Given the description of an element on the screen output the (x, y) to click on. 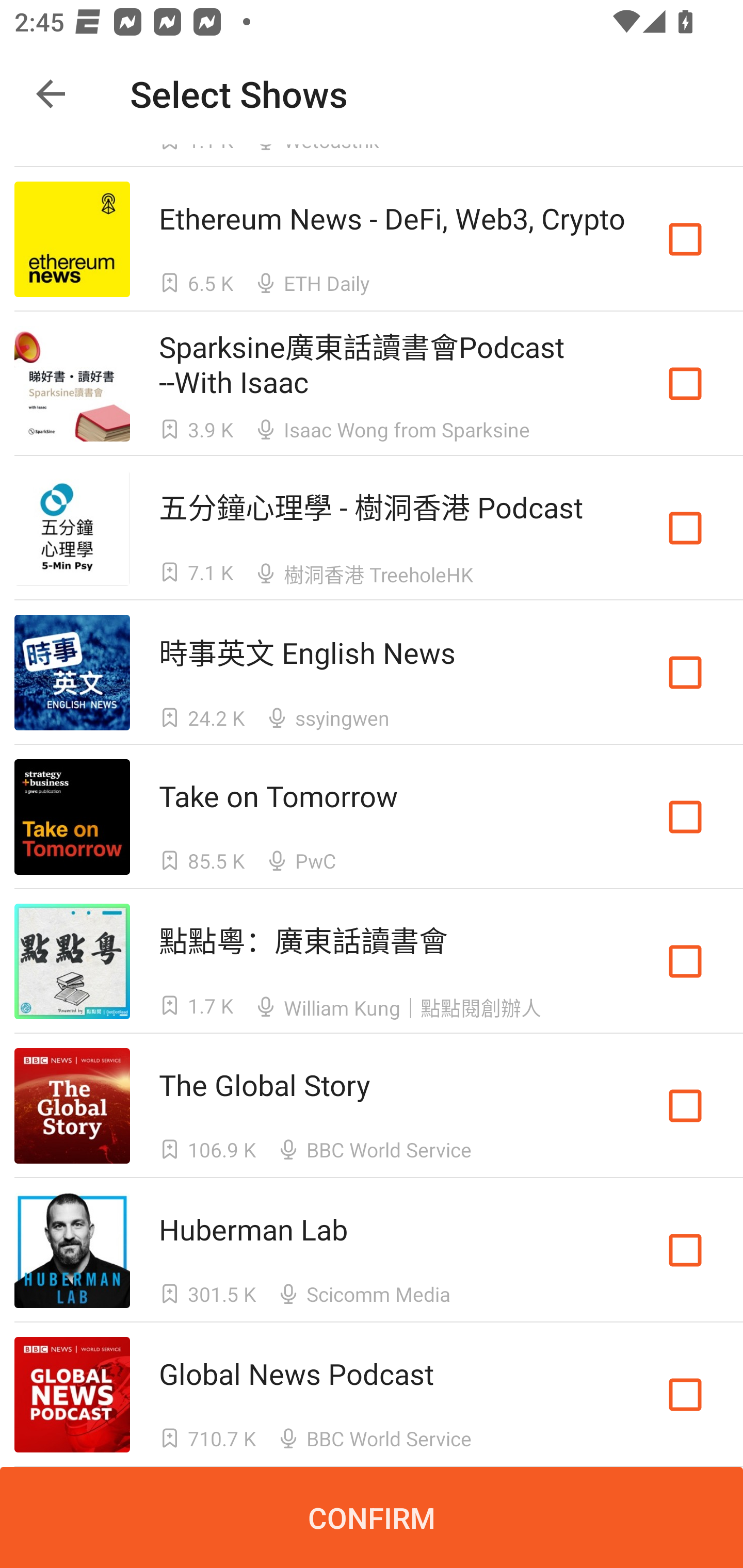
Navigate up (50, 93)
Take on Tomorrow Take on Tomorrow  85.5 K  PwC (371, 816)
CONFIRM (371, 1517)
